Given the description of an element on the screen output the (x, y) to click on. 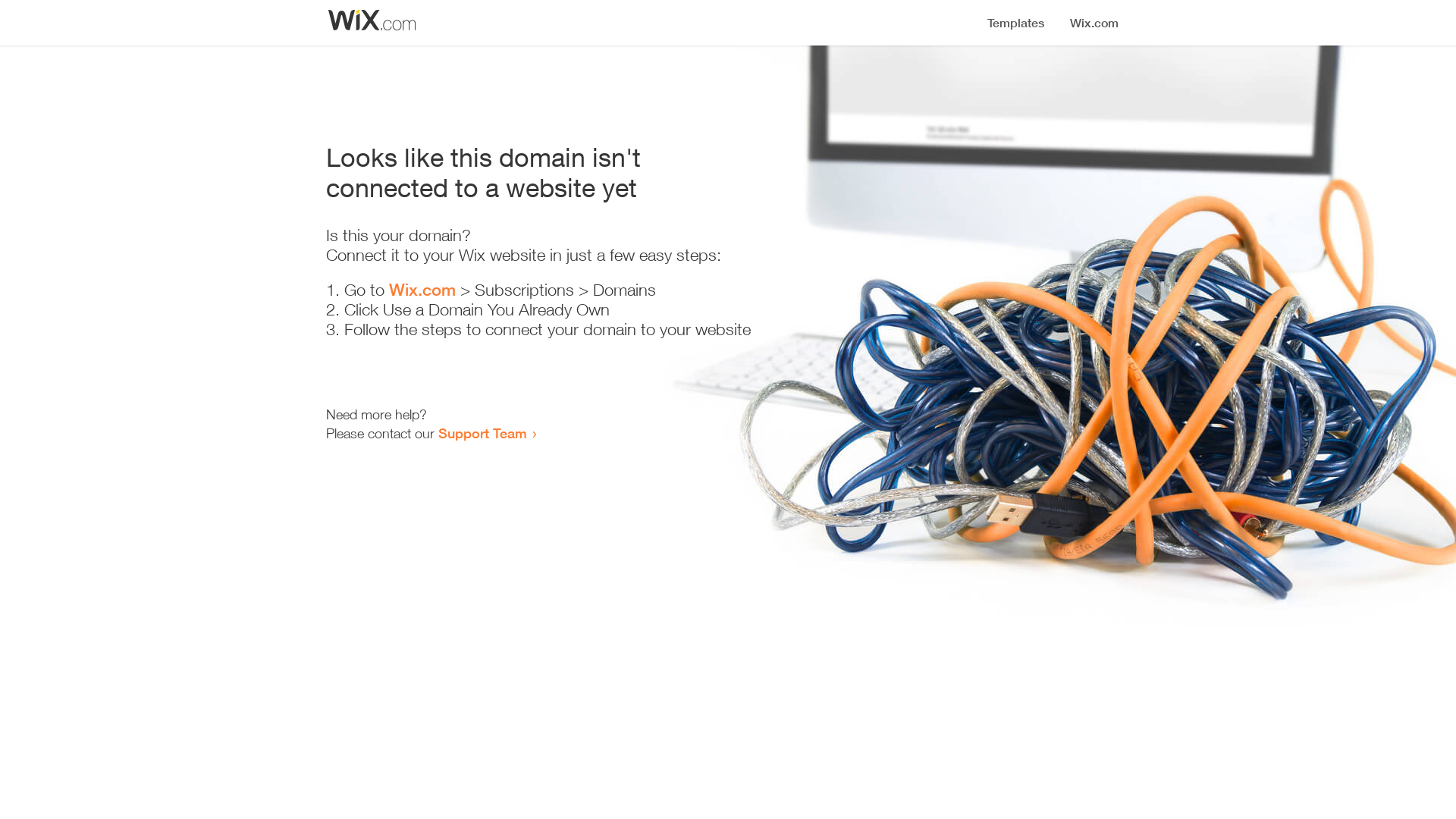
Support Team Element type: text (482, 432)
Wix.com Element type: text (422, 289)
